Given the description of an element on the screen output the (x, y) to click on. 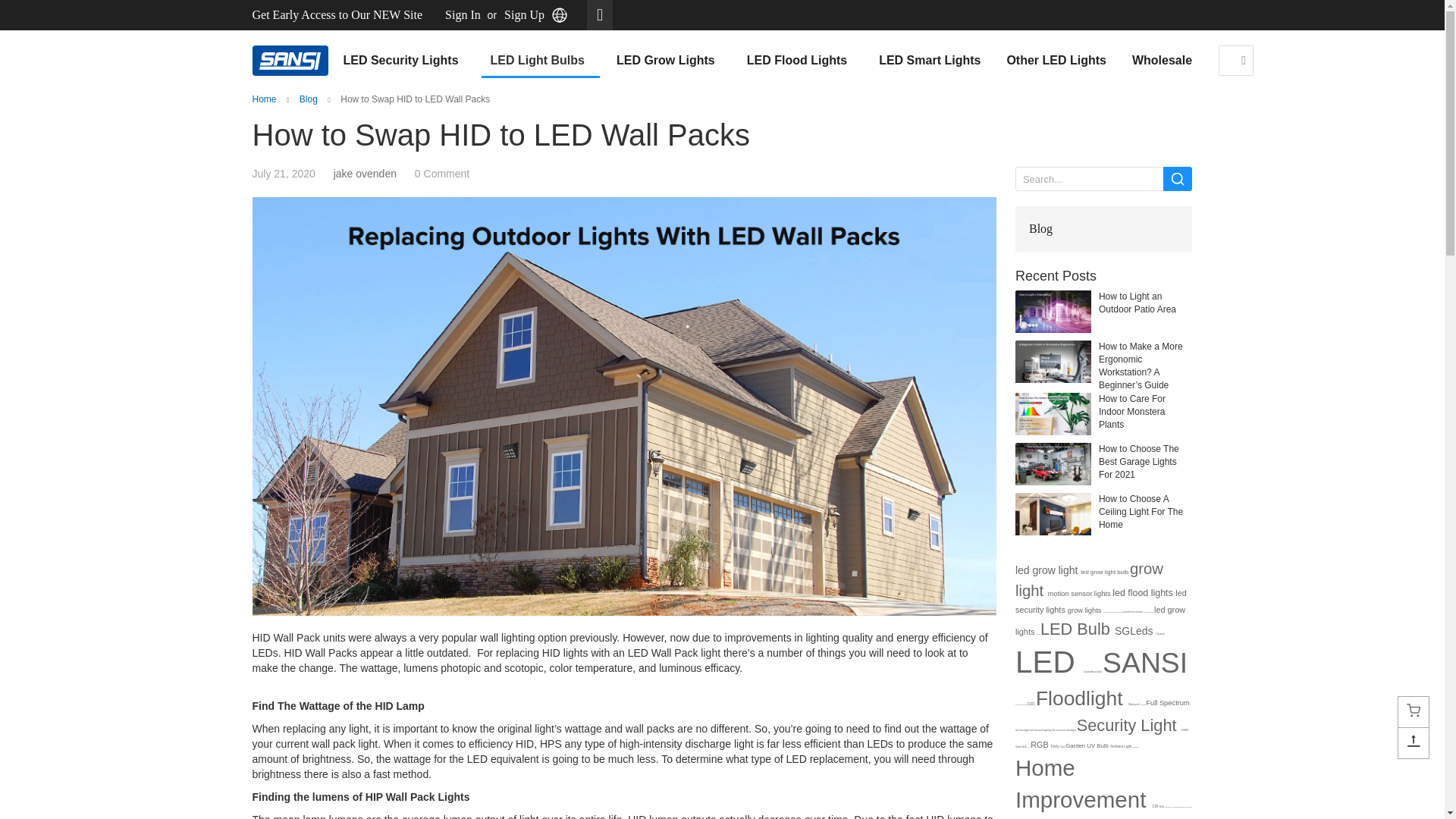
Blog (308, 99)
LED Grow Lights (668, 60)
Get Early Access to Our NEW Site (336, 14)
LED Flood Lights (799, 60)
Go to Home Page (263, 99)
LED Security Lights (403, 60)
Sign Up (523, 14)
LED Light Bulbs (540, 61)
Sign In (462, 14)
Submit (1177, 178)
